Given the description of an element on the screen output the (x, y) to click on. 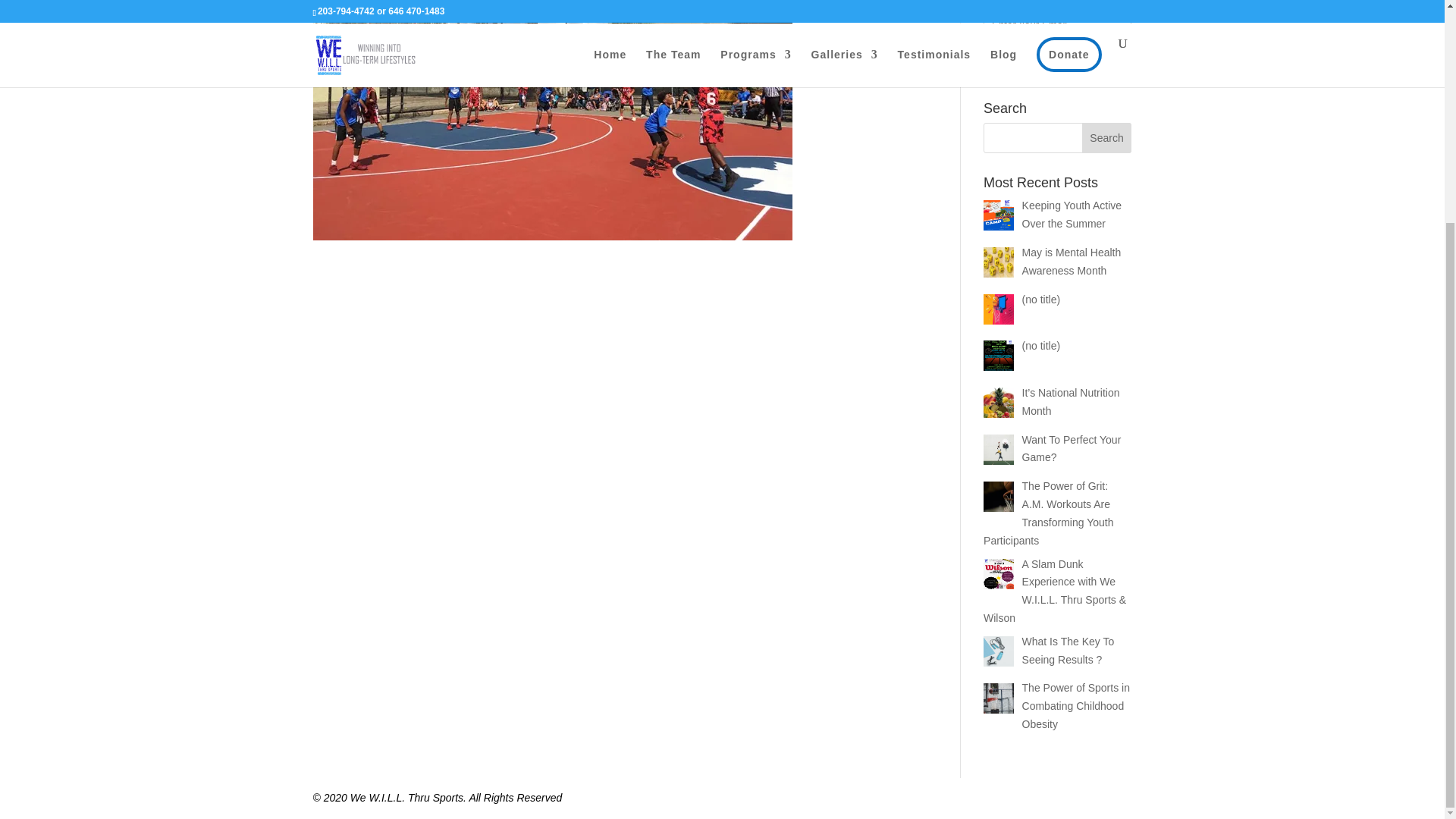
Subscribe (1057, 62)
Search (1106, 137)
